Given the description of an element on the screen output the (x, y) to click on. 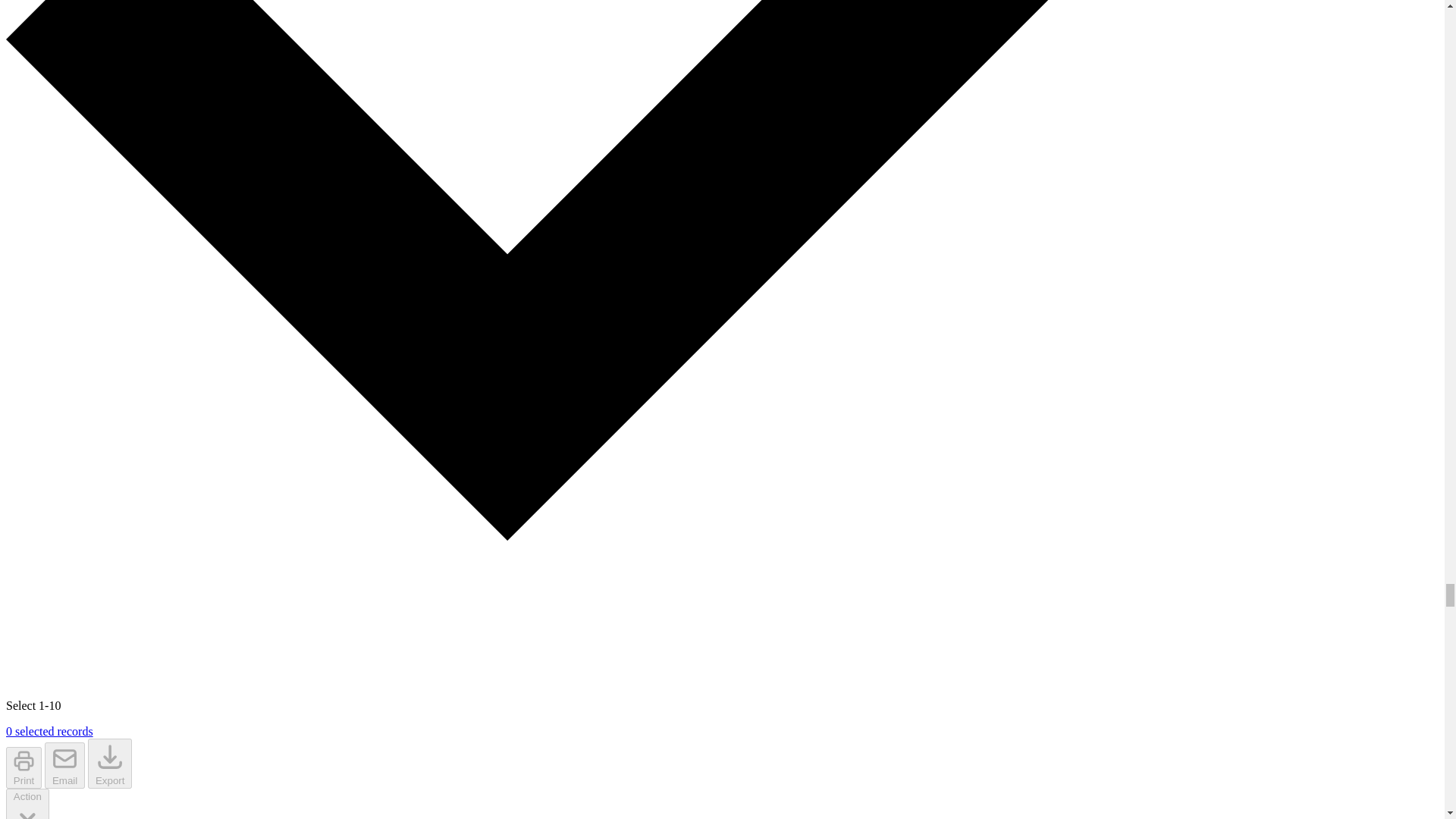
Action (27, 803)
0 selected records (49, 730)
